Given the description of an element on the screen output the (x, y) to click on. 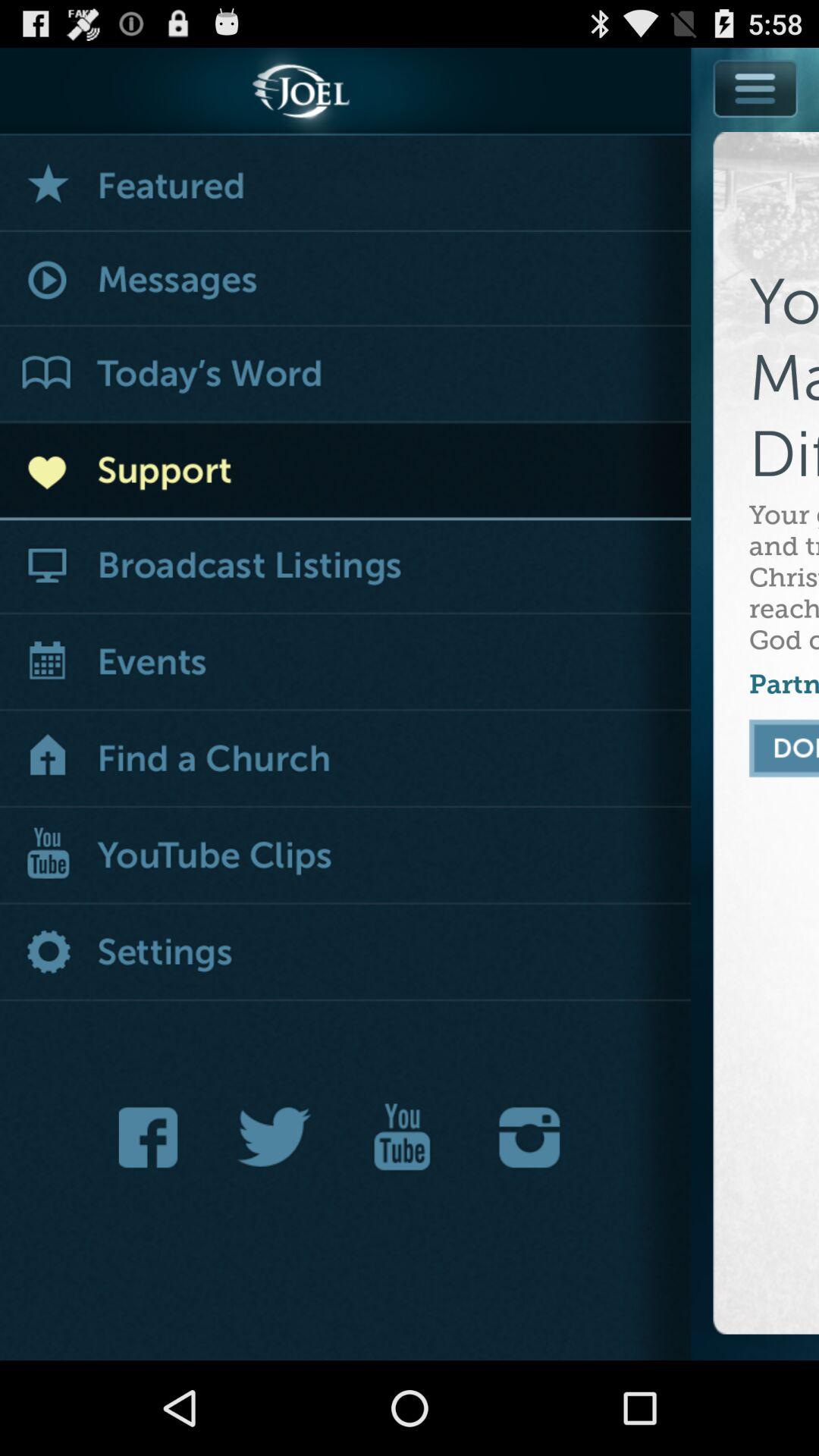
go to setting (345, 953)
